Given the description of an element on the screen output the (x, y) to click on. 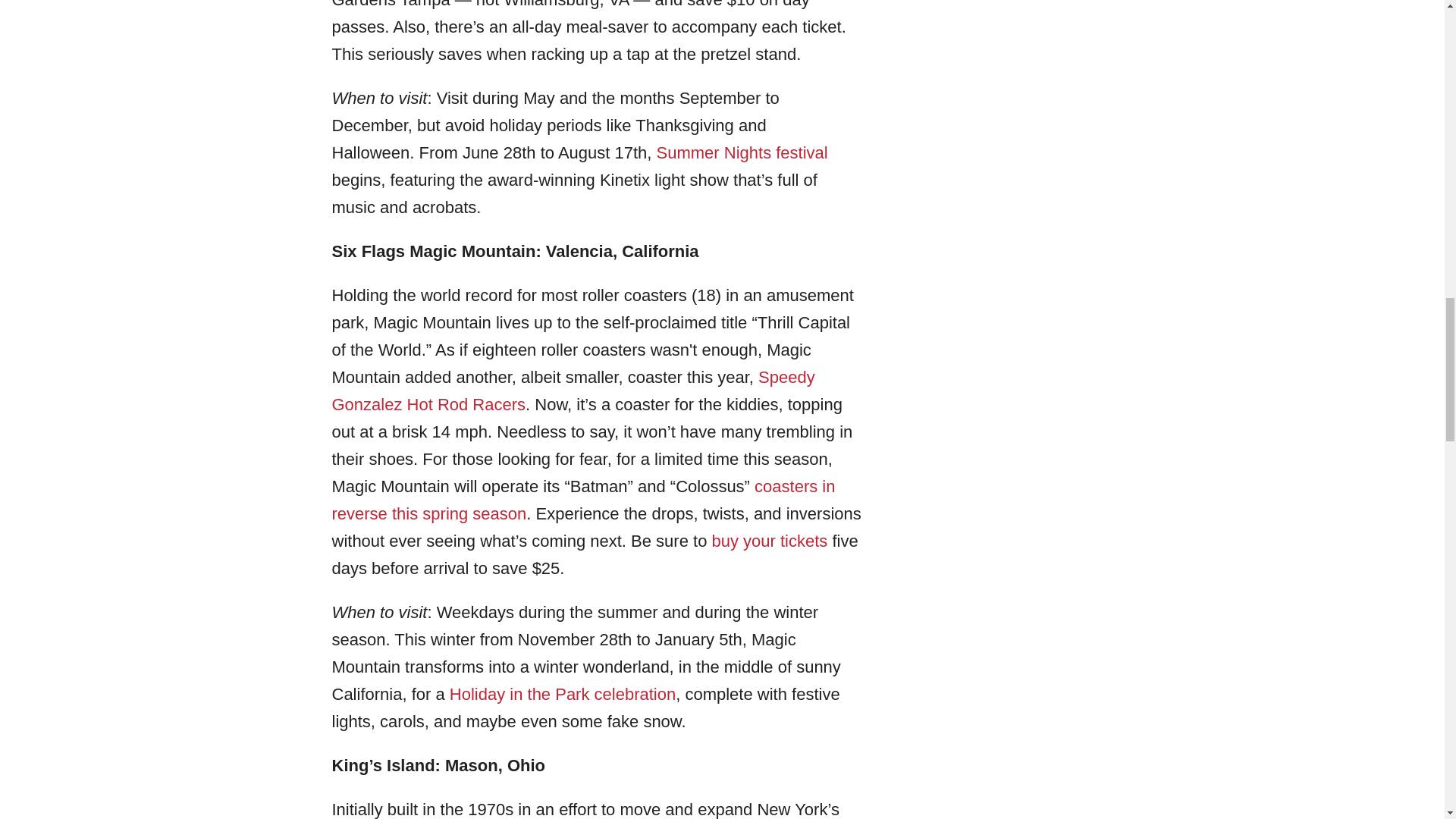
Summer Nights festival (742, 152)
coasters in reverse this spring season (583, 499)
Speedy Gonzalez Hot Rod Racers (573, 390)
Holiday in the Park celebration (562, 693)
buy your tickets (769, 540)
